Given the description of an element on the screen output the (x, y) to click on. 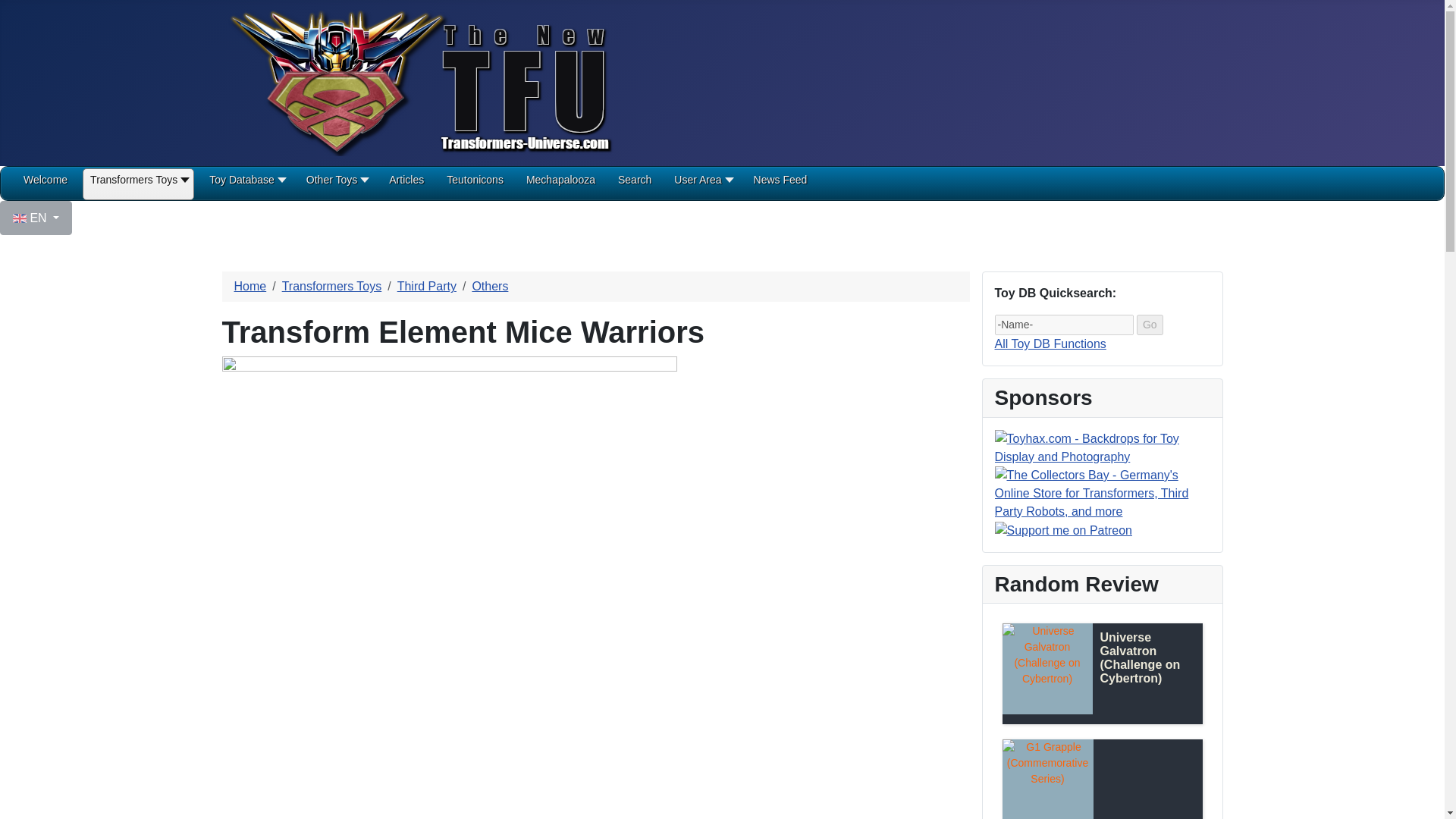
-Name- (1064, 324)
Go (1150, 324)
Welcome (44, 184)
Transformers Toys (138, 184)
